Given the description of an element on the screen output the (x, y) to click on. 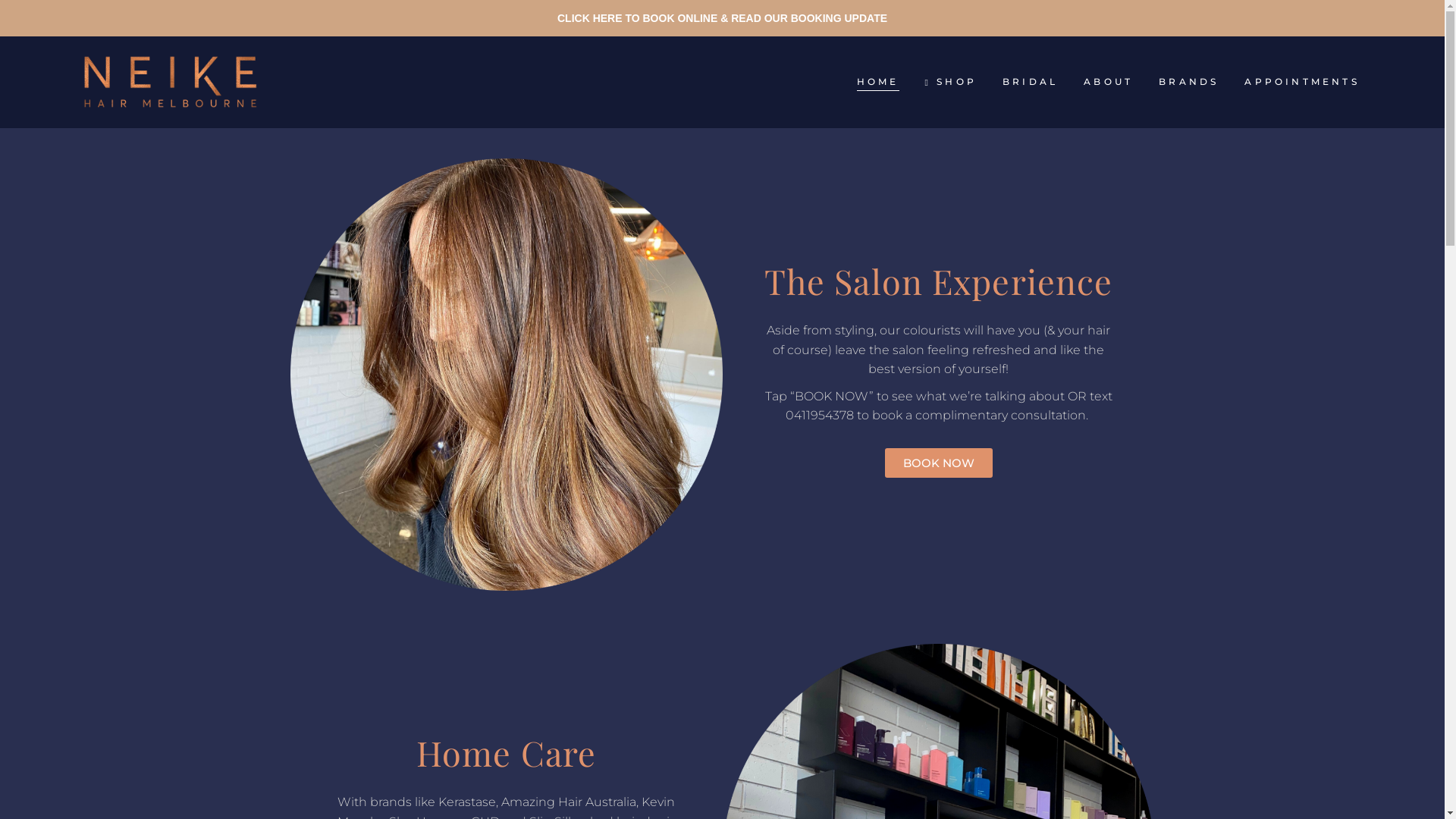
CLICK HERE TO BOOK ONLINE & READ OUR BOOKING UPDATE Element type: text (722, 18)
BRIDAL Element type: text (1029, 81)
APPOINTMENTS Element type: text (1301, 81)
SHOP Element type: text (950, 81)
HOME Element type: text (878, 81)
BRANDS Element type: text (1188, 81)
ABOUT Element type: text (1107, 81)
BOOK NOW Element type: text (937, 462)
